Given the description of an element on the screen output the (x, y) to click on. 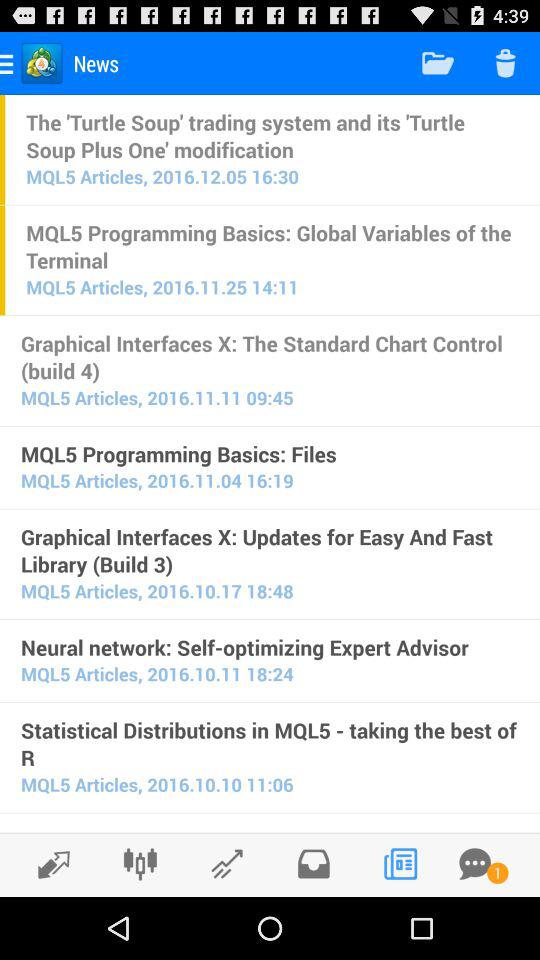
swipe to the quick evaluation of item (270, 829)
